Given the description of an element on the screen output the (x, y) to click on. 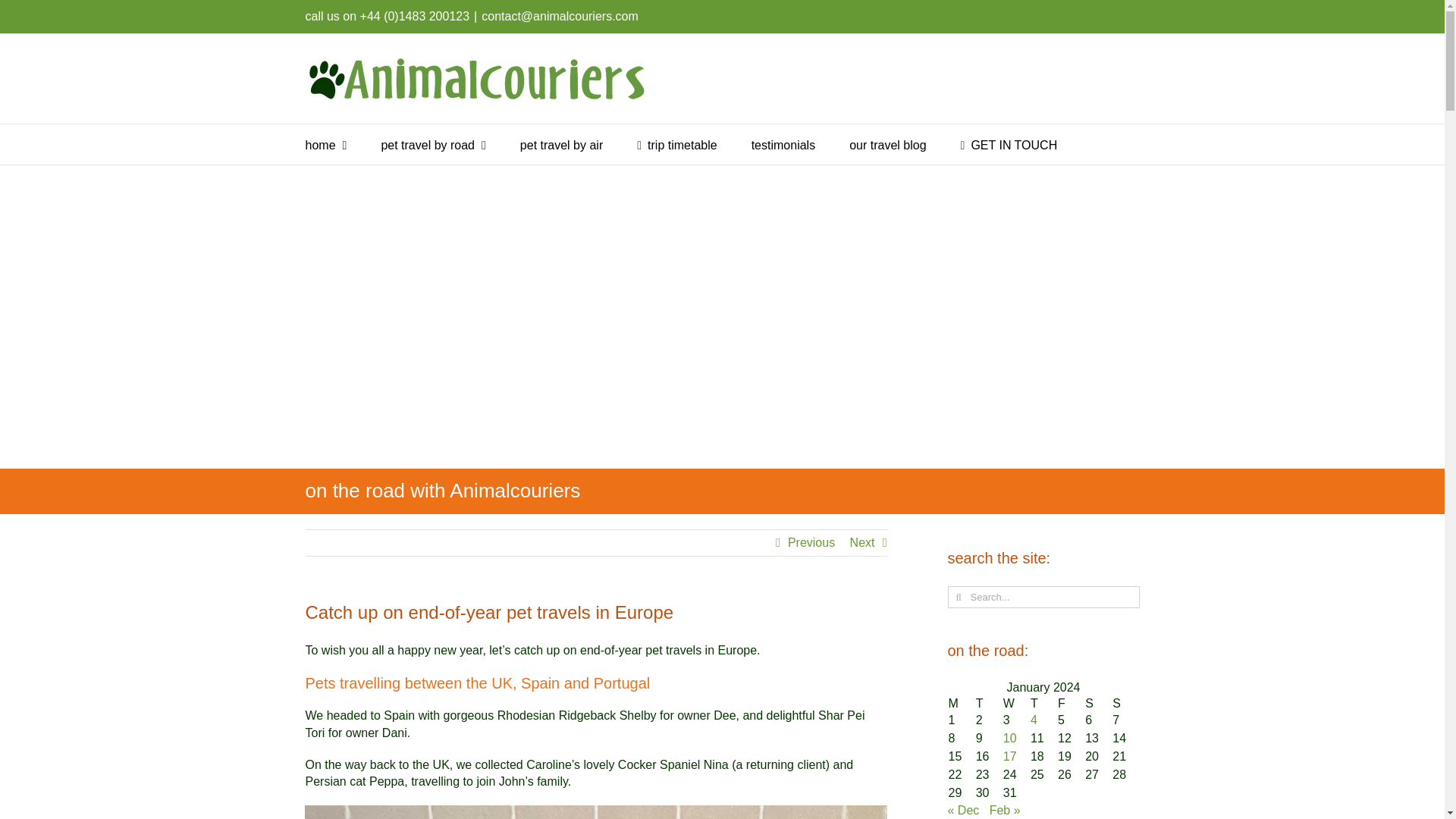
Previous (810, 542)
trip timetable (676, 144)
pet travel by road (432, 144)
pet travel by air (560, 144)
Next (862, 542)
our travel blog (887, 144)
home (325, 144)
GET IN TOUCH (1009, 144)
testimonials (783, 144)
